Given the description of an element on the screen output the (x, y) to click on. 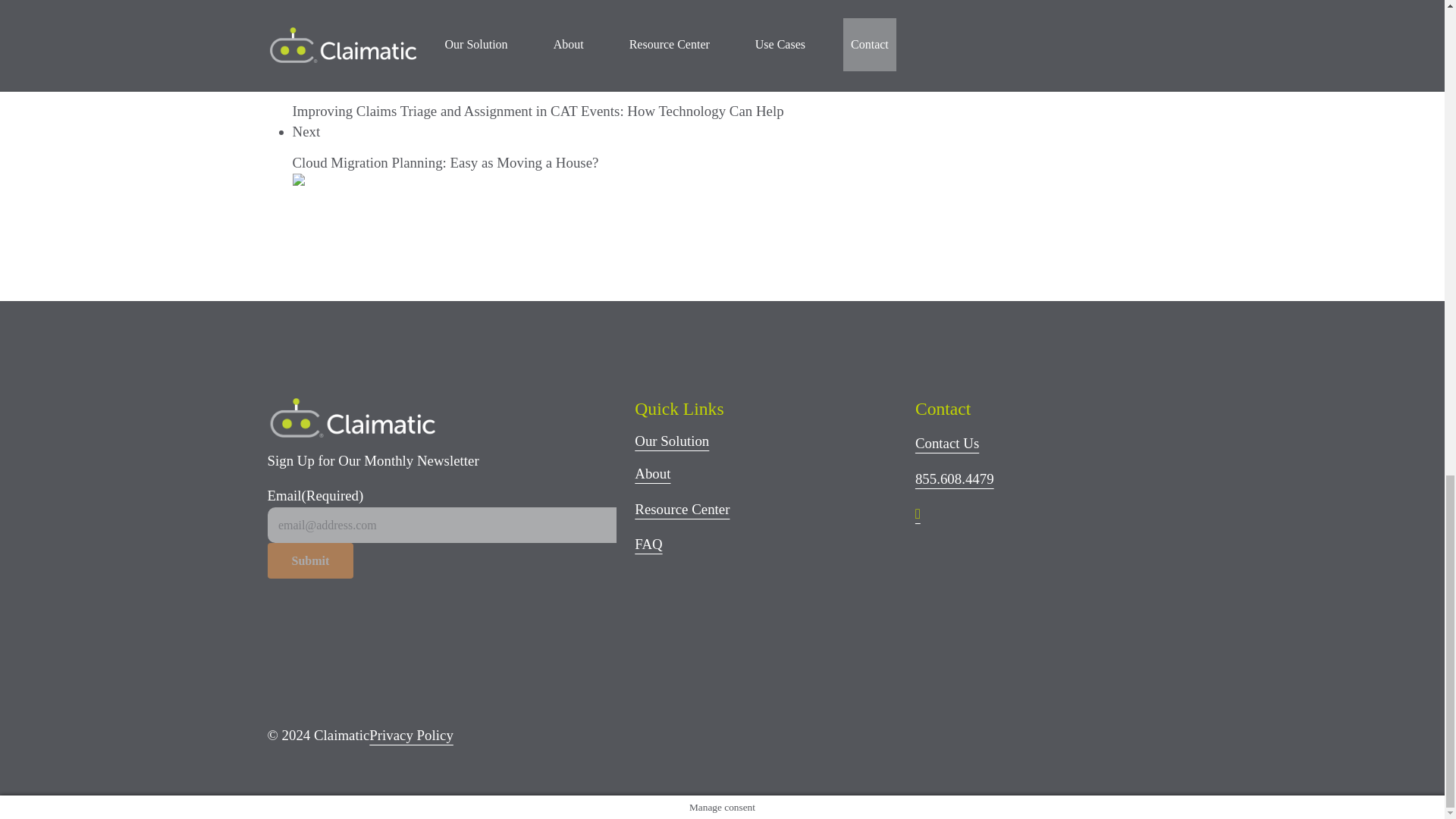
Submit (309, 560)
FAQ (648, 544)
Submit (309, 560)
Resource Center (681, 508)
About (651, 473)
Contact Us (946, 442)
Cloud Migration Planning: Easy as Moving a House? (445, 162)
855.608.4479 (954, 478)
Our Solution (671, 440)
